Given the description of an element on the screen output the (x, y) to click on. 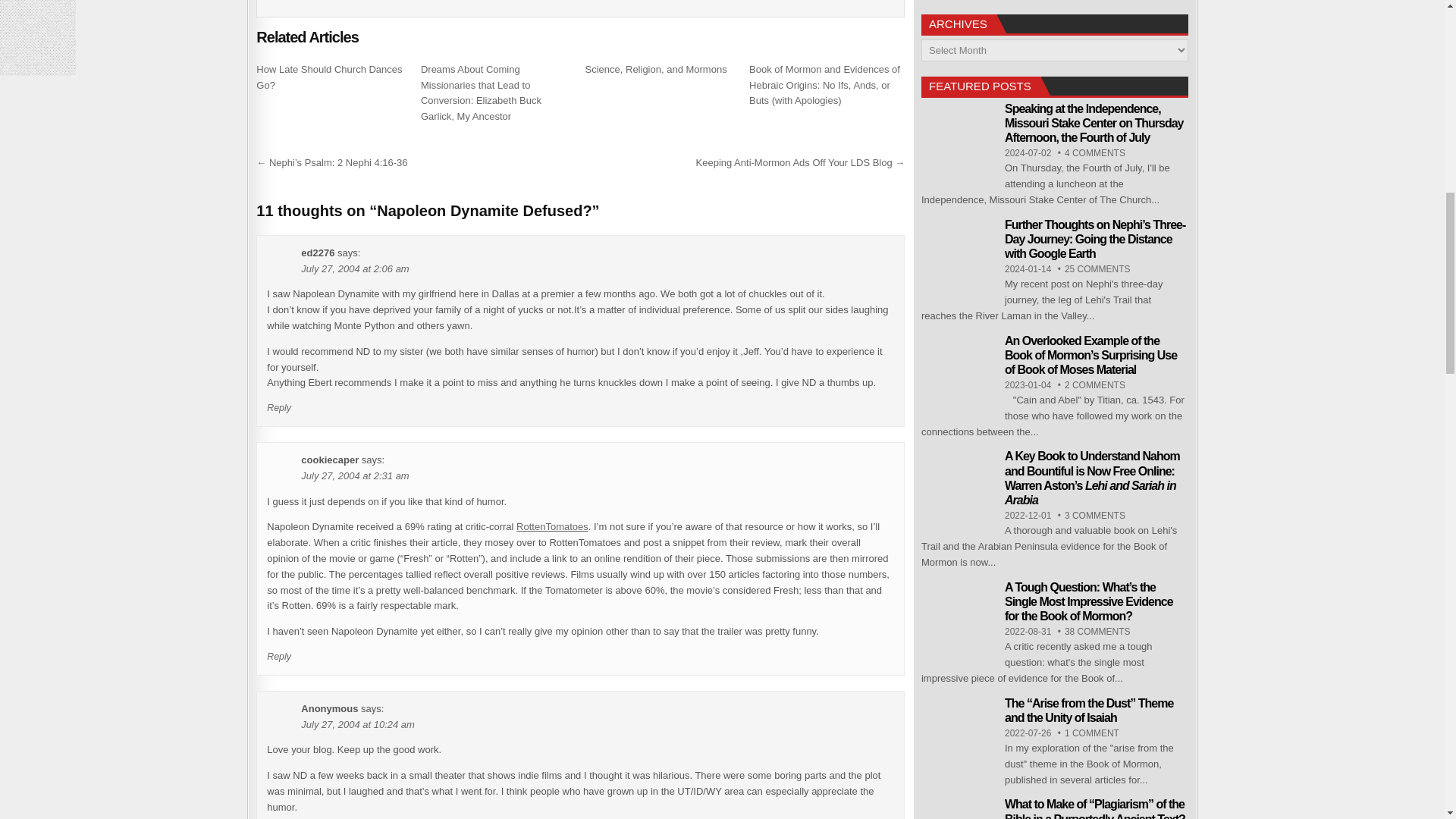
Science, Religion, and Mormons (655, 69)
July 27, 2004 at 2:06 am (355, 268)
Permanent Link to How Late Should Church Dances Go? (328, 76)
Reply (278, 407)
How Late Should Church Dances Go? (328, 76)
